Given the description of an element on the screen output the (x, y) to click on. 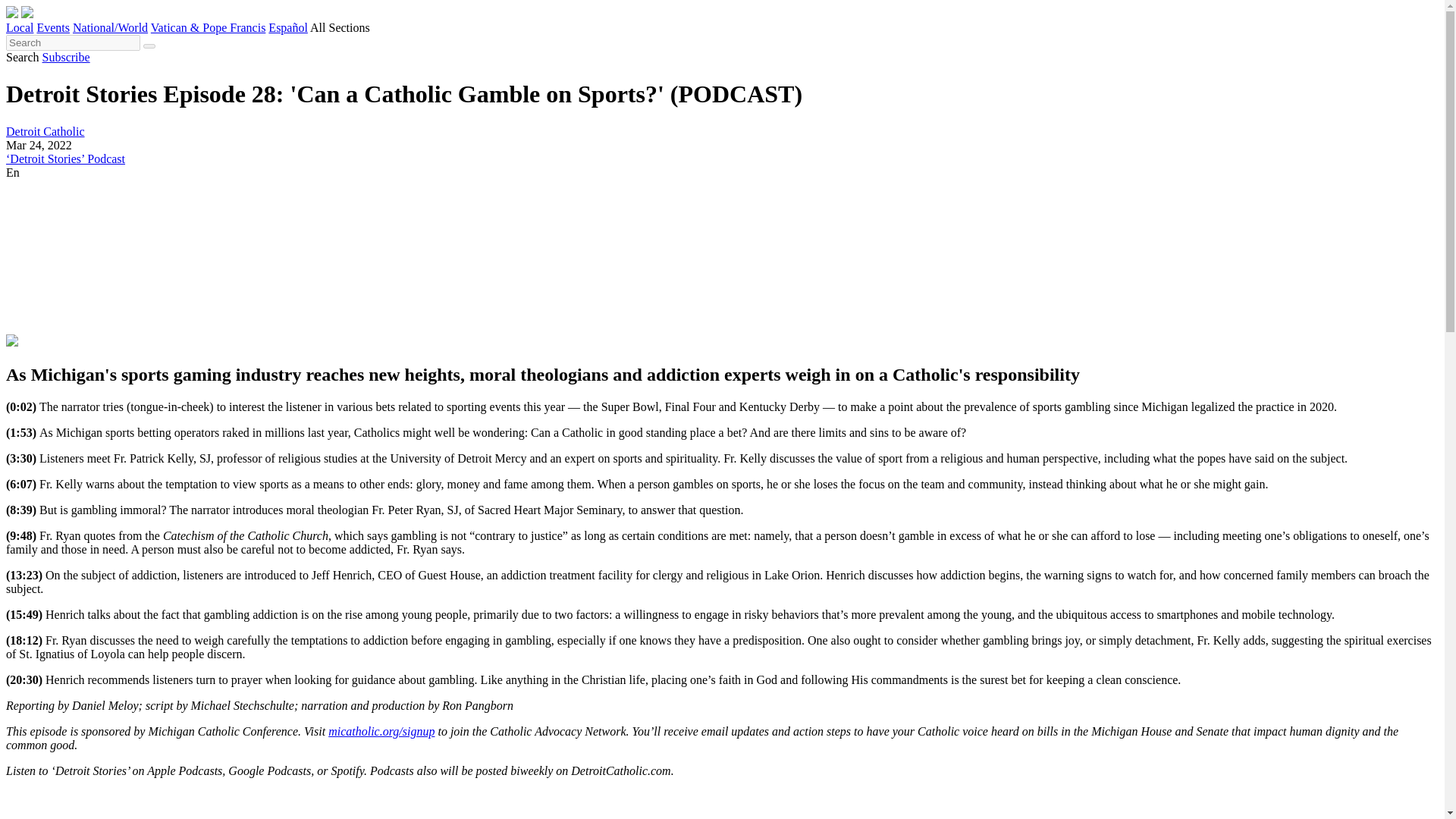
Subscribe (66, 56)
All Sections (339, 27)
Detroit Catholic (44, 131)
Events (52, 27)
Search (22, 56)
Local (19, 27)
